Given the description of an element on the screen output the (x, y) to click on. 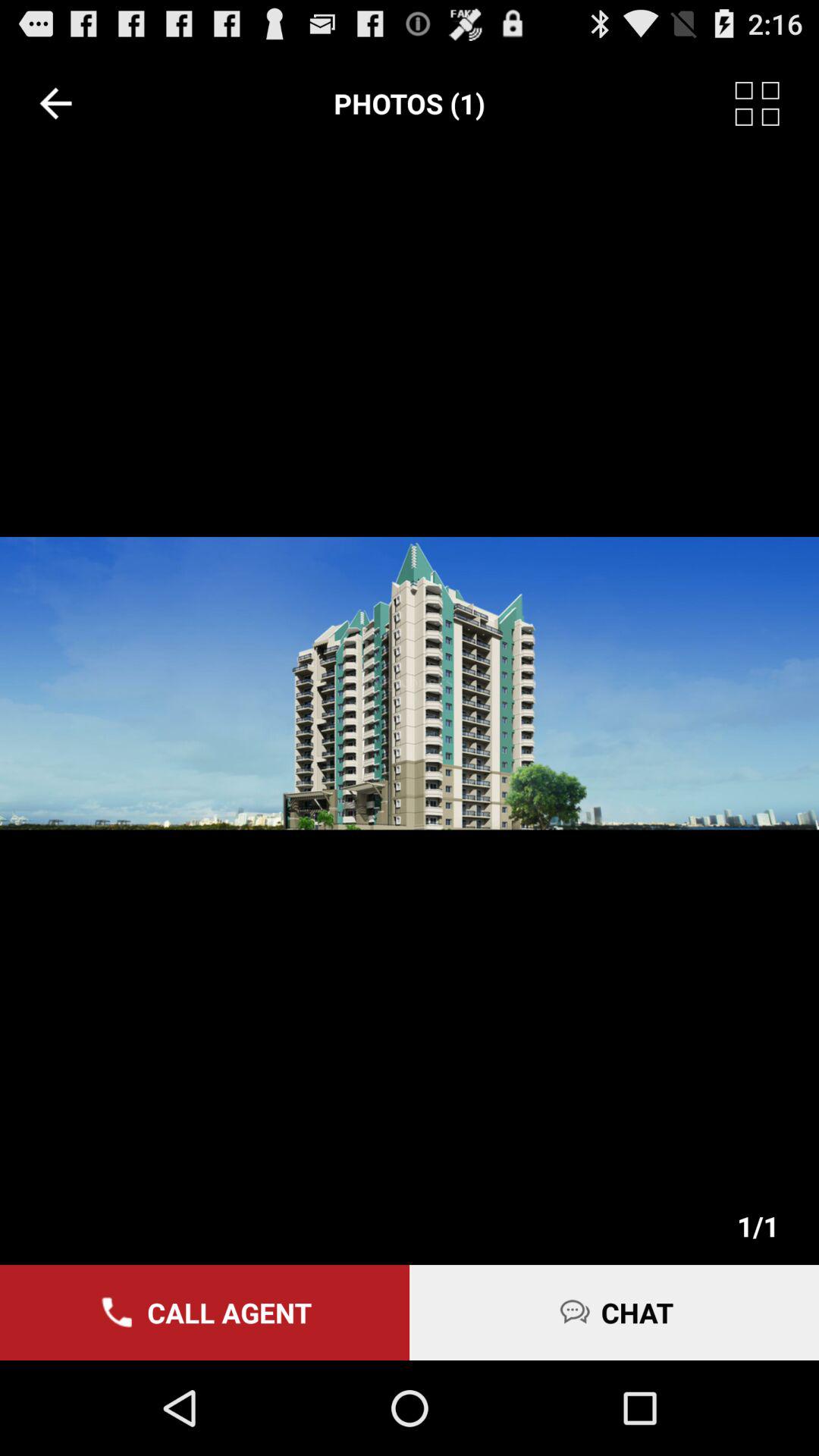
select item next to photos (1) icon (55, 103)
